Given the description of an element on the screen output the (x, y) to click on. 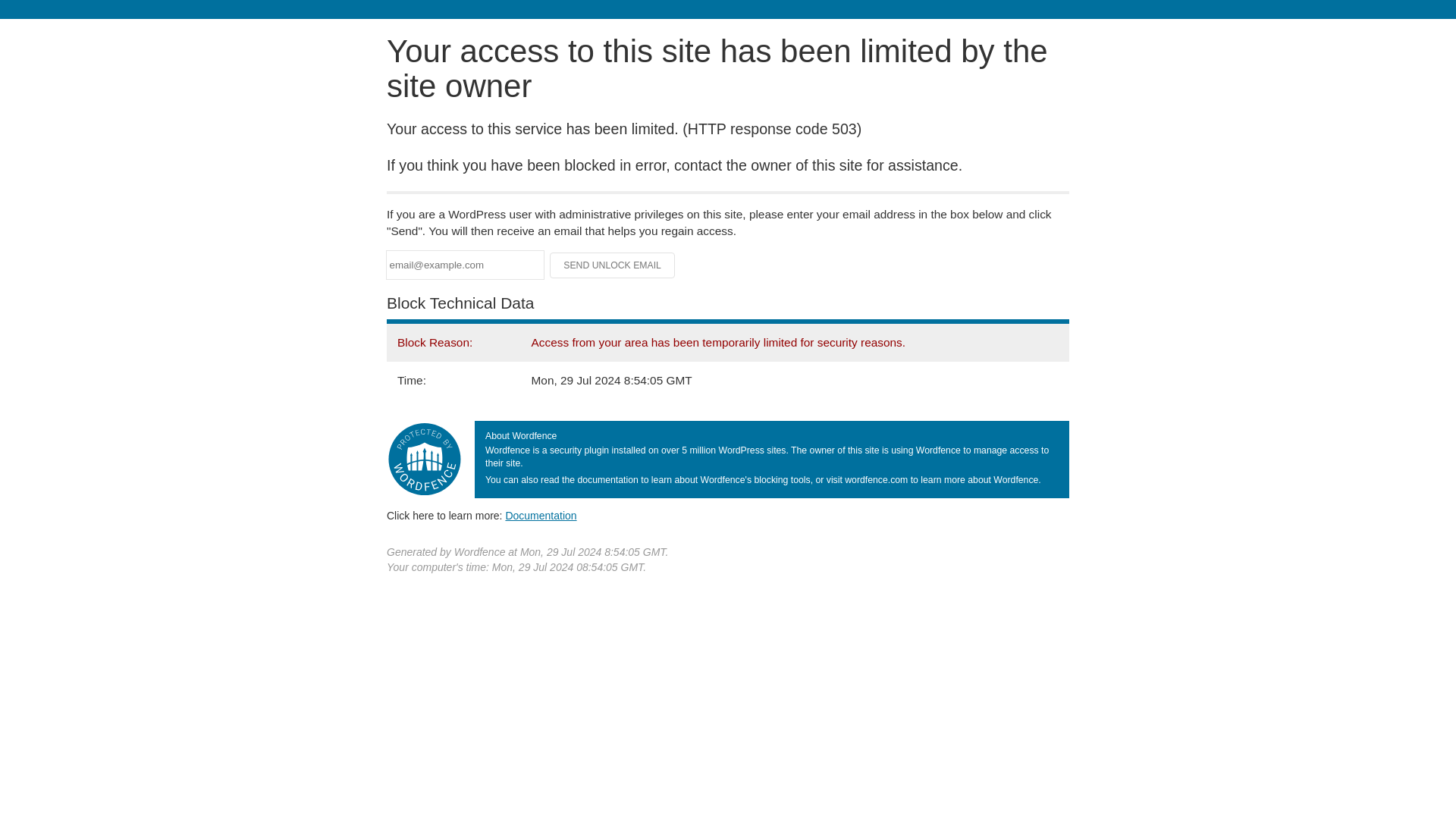
Send Unlock Email (612, 265)
Documentation (540, 515)
Send Unlock Email (612, 265)
